Given the description of an element on the screen output the (x, y) to click on. 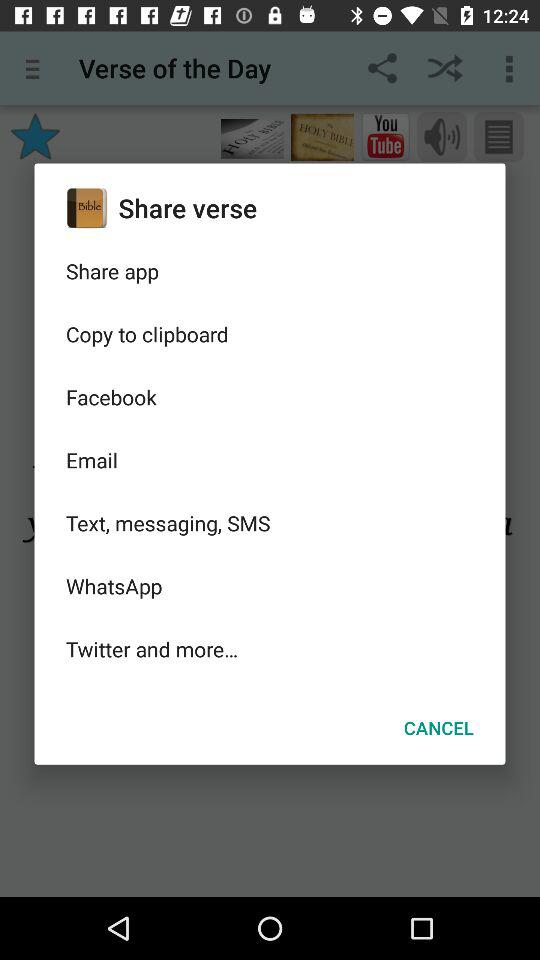
select the cancel (438, 727)
